Given the description of an element on the screen output the (x, y) to click on. 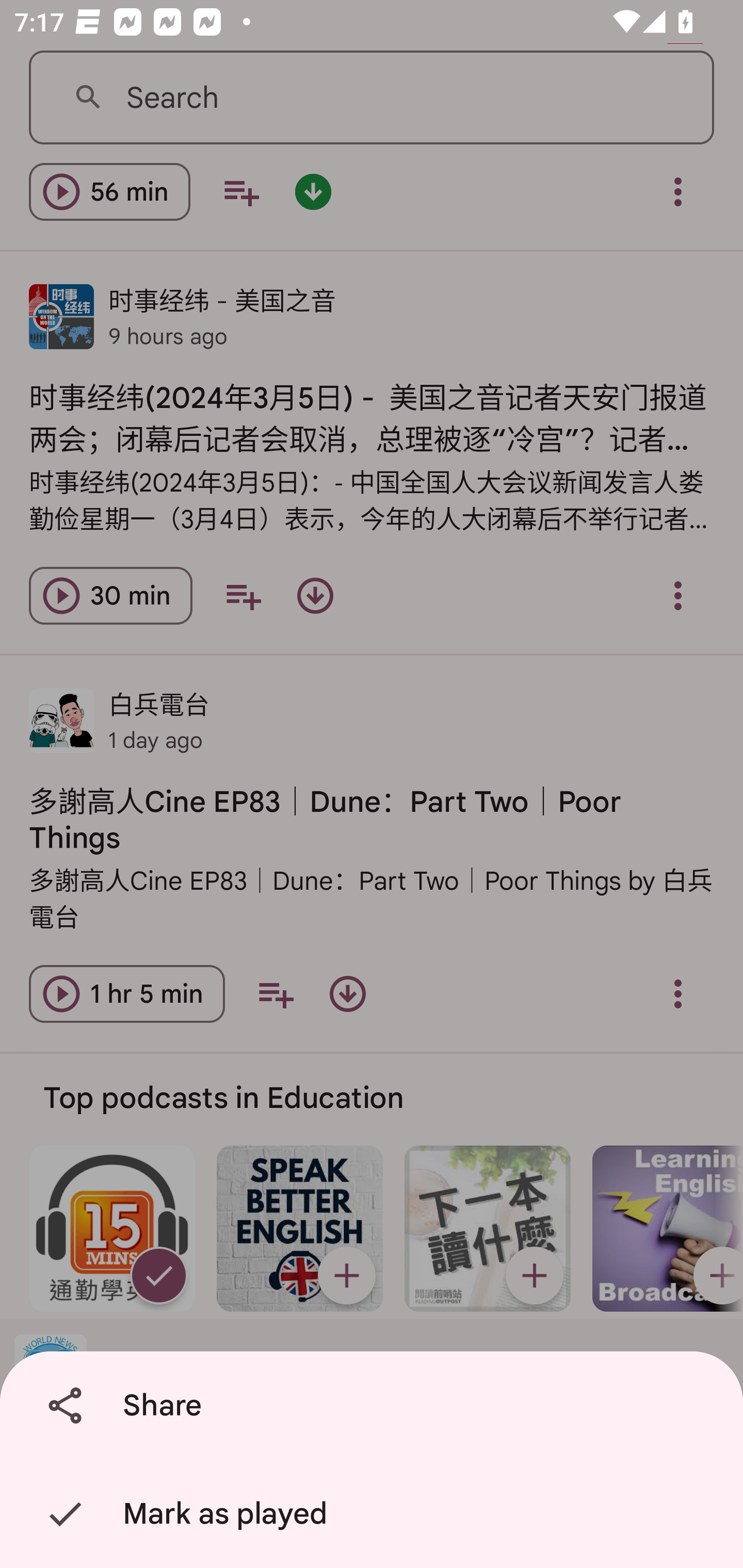
Share (375, 1405)
Mark as played (375, 1513)
